Given the description of an element on the screen output the (x, y) to click on. 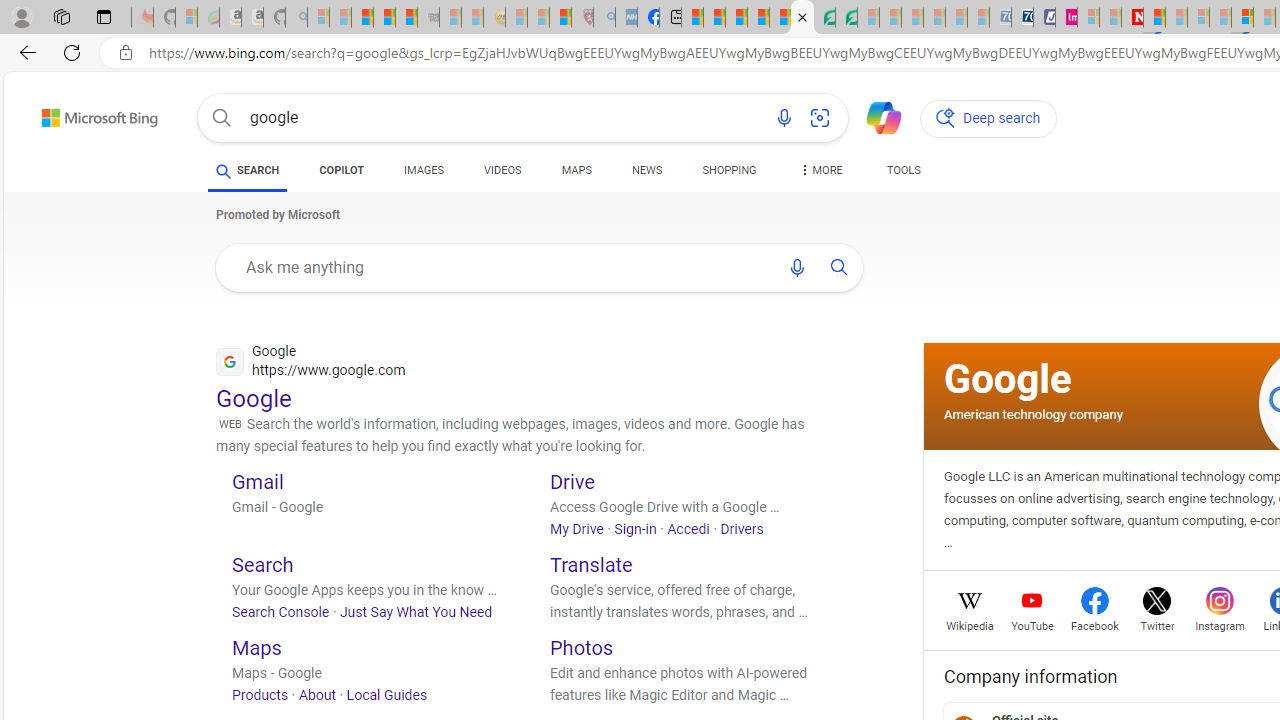
Accedi (688, 528)
Chat (875, 116)
Search button (221, 117)
GmailGmail - Google (368, 510)
American technology company (1033, 413)
Sign-in (635, 528)
